Given the description of an element on the screen output the (x, y) to click on. 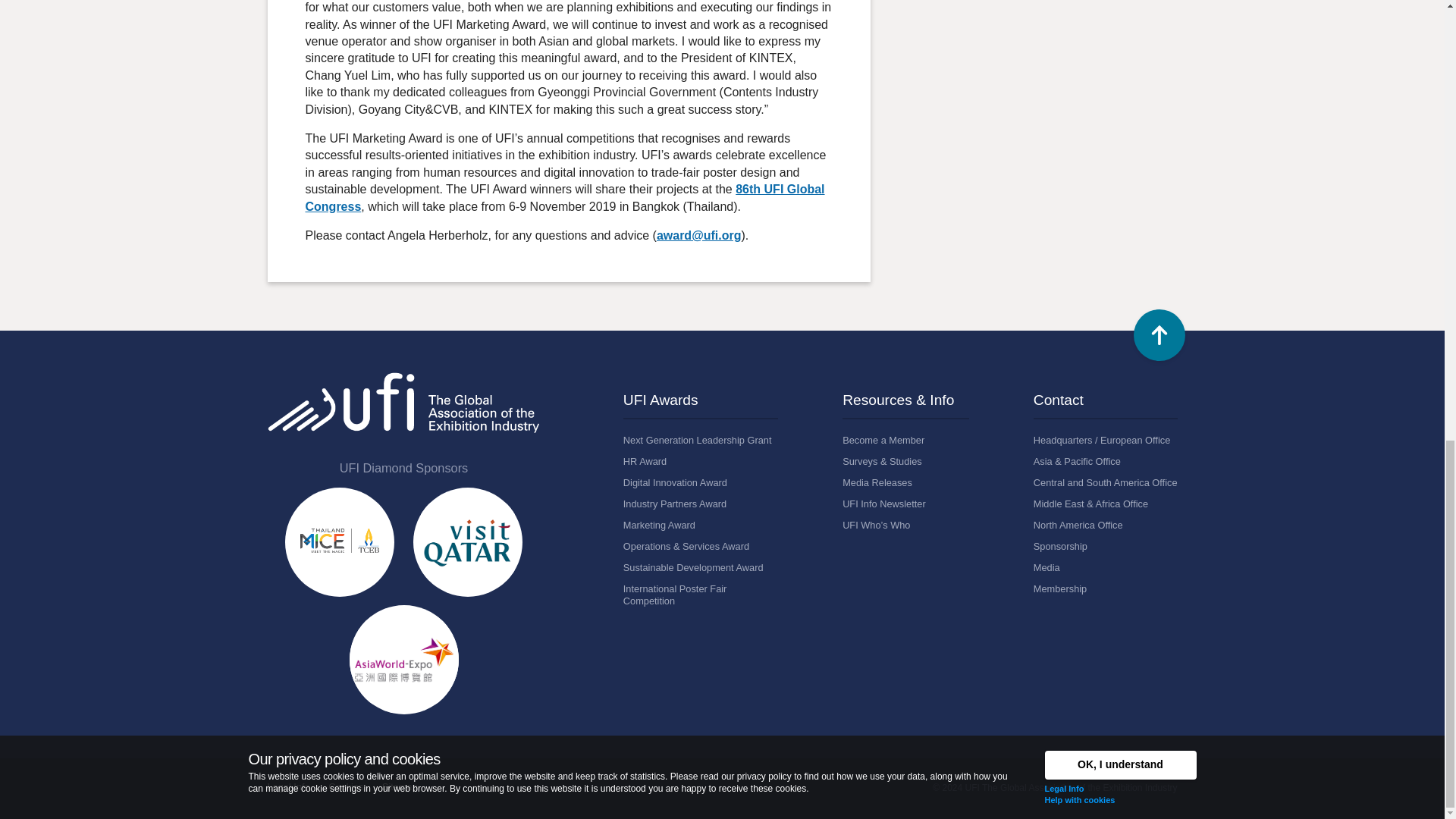
Back to top (1158, 335)
86th UFI Global Congress (564, 197)
